Given the description of an element on the screen output the (x, y) to click on. 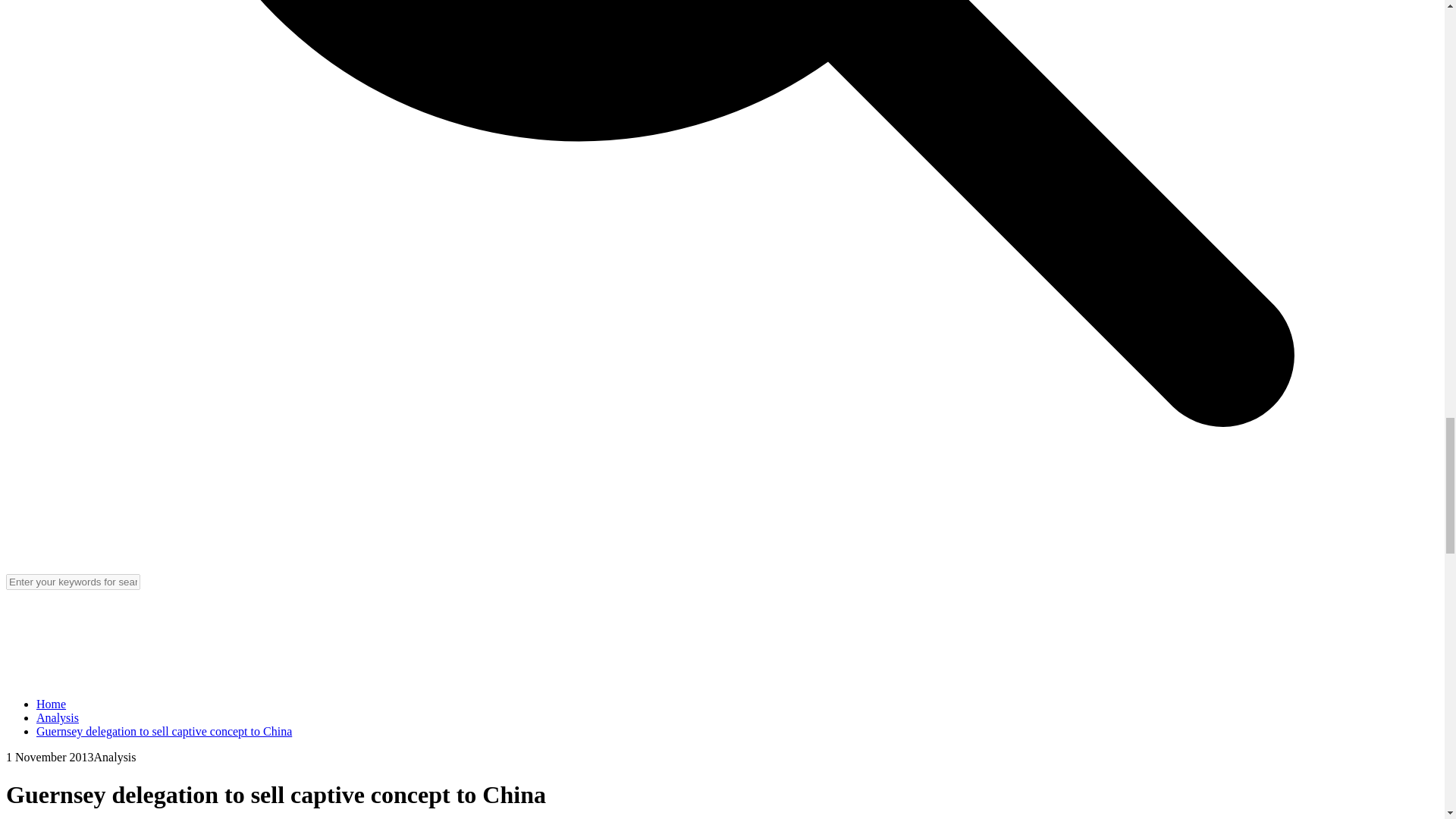
Home (50, 703)
Analysis (57, 717)
Guernsey delegation to sell captive concept to China (164, 730)
